Given the description of an element on the screen output the (x, y) to click on. 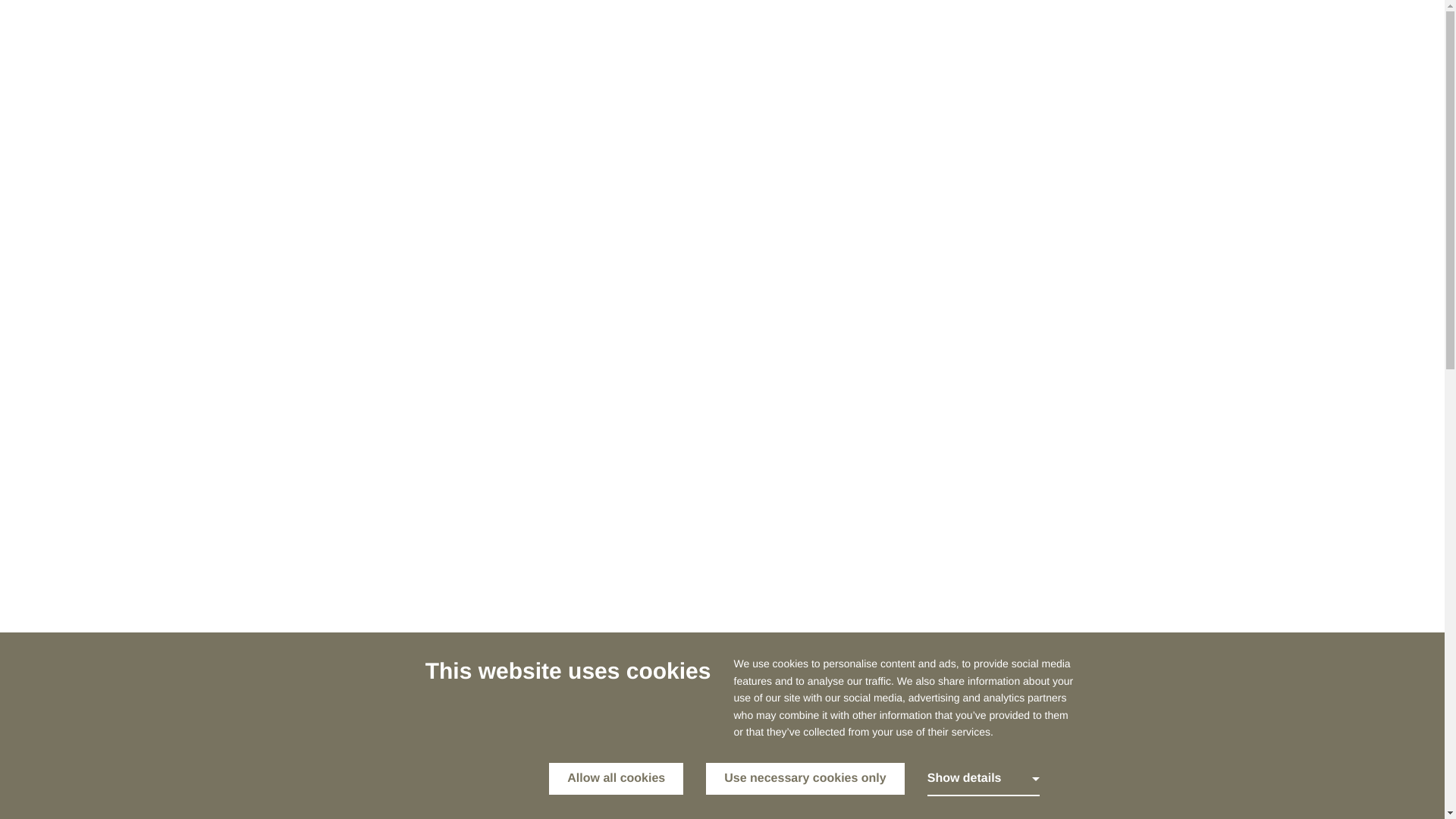
Allow all cookies (615, 778)
Show details (983, 779)
Use necessary cookies only (805, 778)
